Given the description of an element on the screen output the (x, y) to click on. 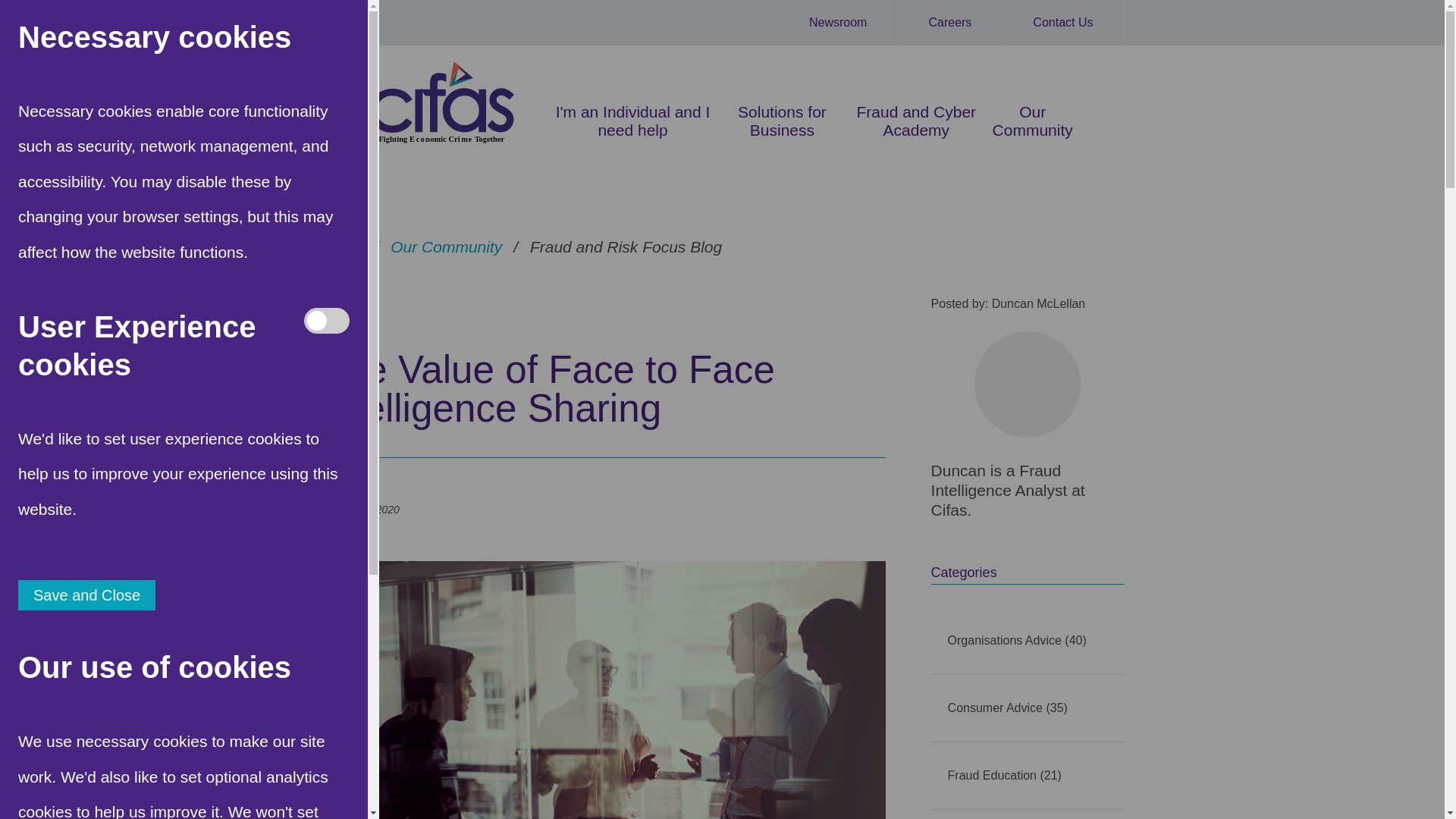
Careers (950, 22)
Newsroom (838, 22)
I'm an Individual and I need help (632, 121)
Duncan McLellan (1027, 383)
Cifas Homepage (22, 22)
Contact Us (1063, 22)
Cookie Settings (22, 796)
Save and Close (86, 594)
